Given the description of an element on the screen output the (x, y) to click on. 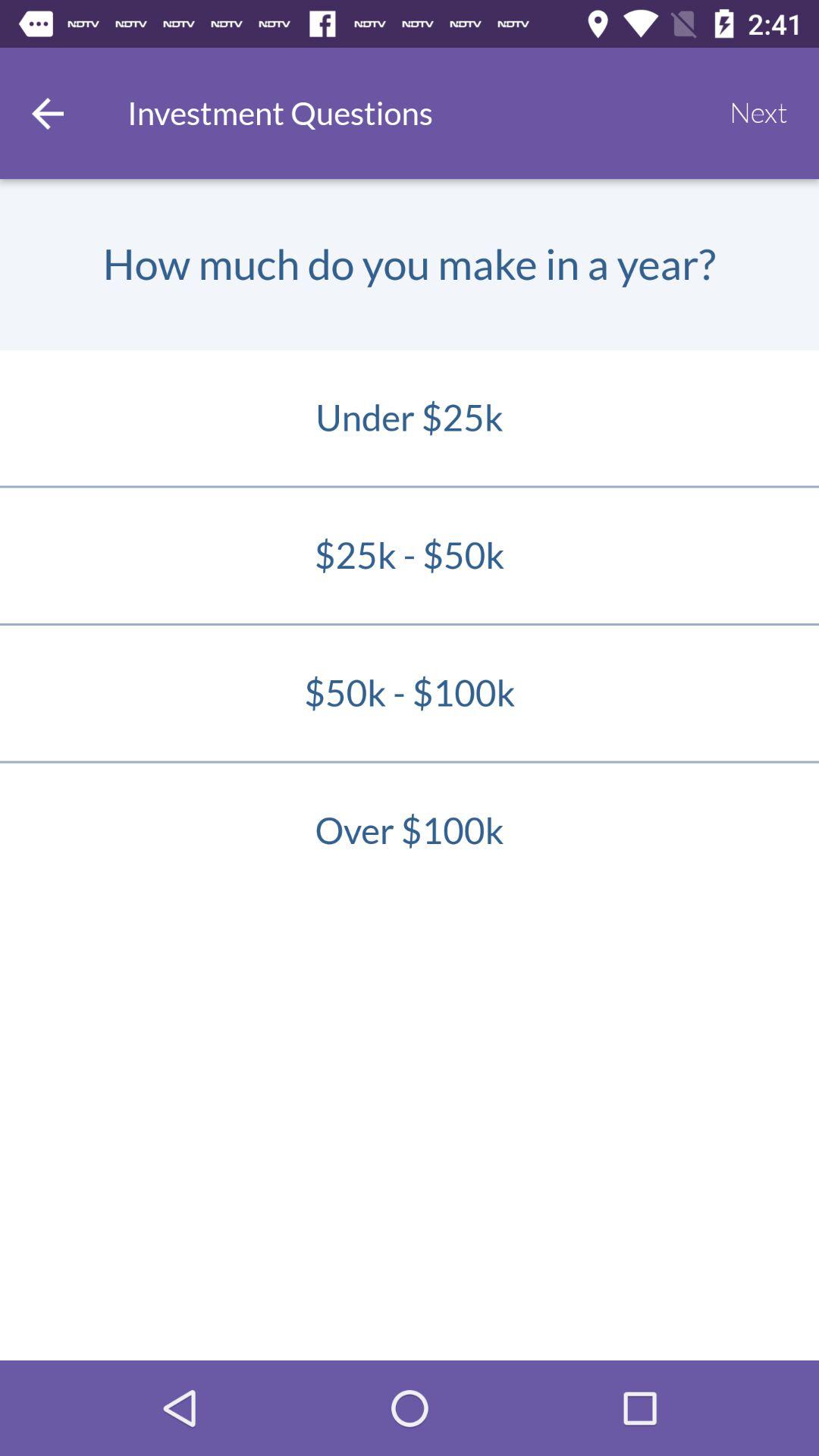
turn on the icon at the top right corner (758, 113)
